Given the description of an element on the screen output the (x, y) to click on. 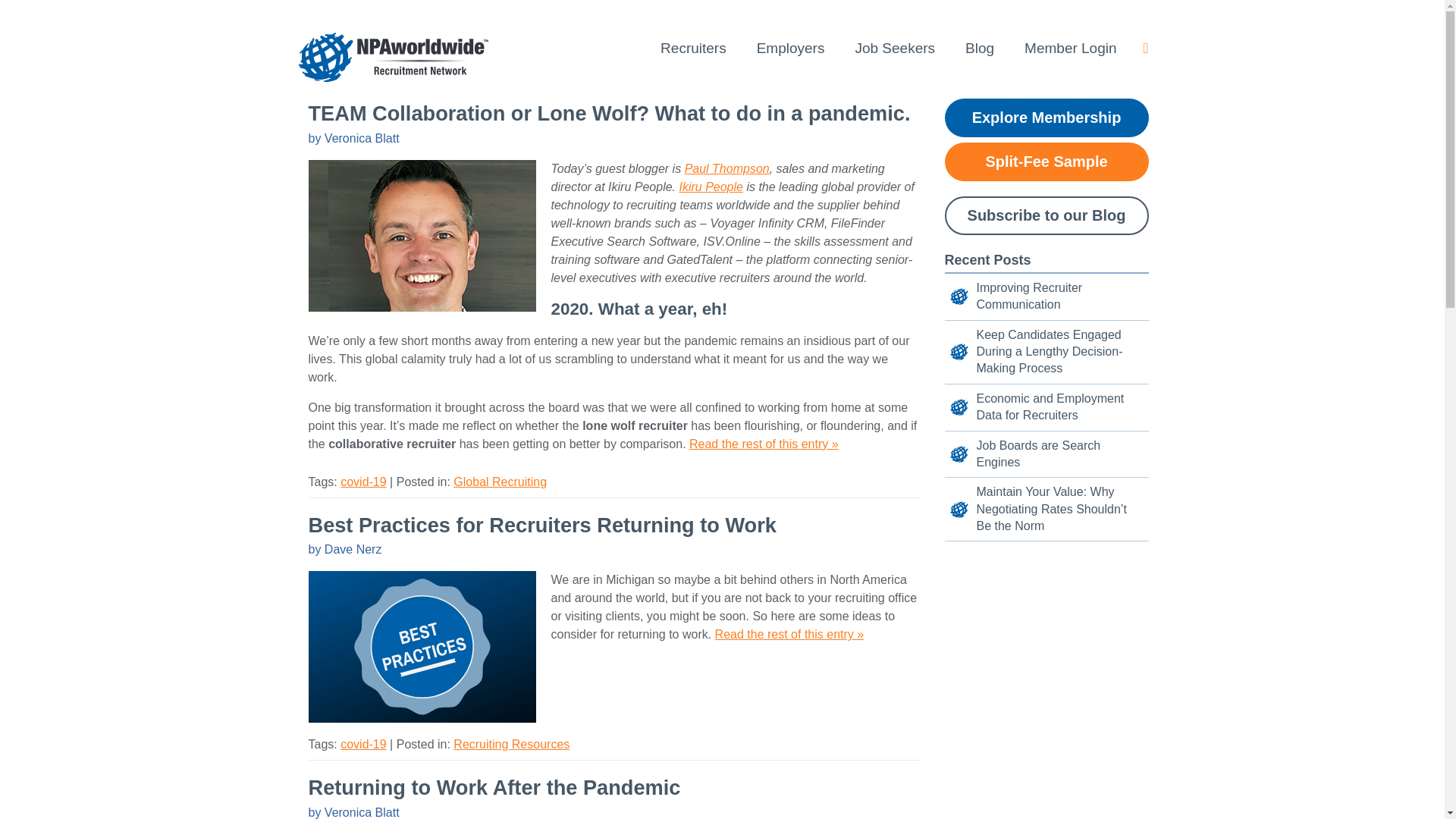
NPAworldwide - Global Recruitment Network (392, 56)
